Given the description of an element on the screen output the (x, y) to click on. 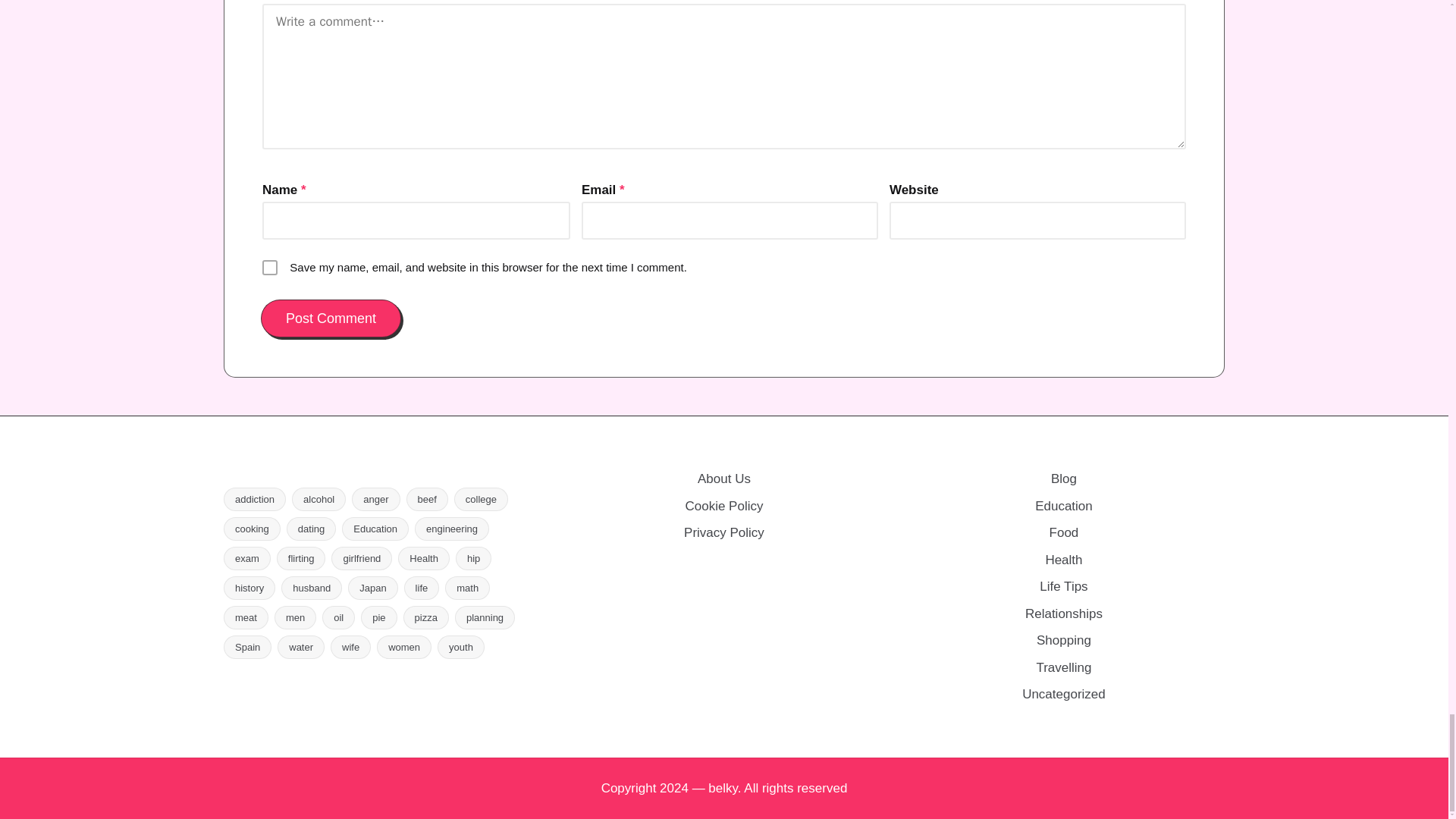
flirting (301, 558)
Post Comment (330, 318)
exam (247, 558)
addiction (254, 499)
college (481, 499)
Education (375, 528)
cooking (252, 528)
anger (375, 499)
dating (311, 528)
girlfriend (361, 558)
